Given the description of an element on the screen output the (x, y) to click on. 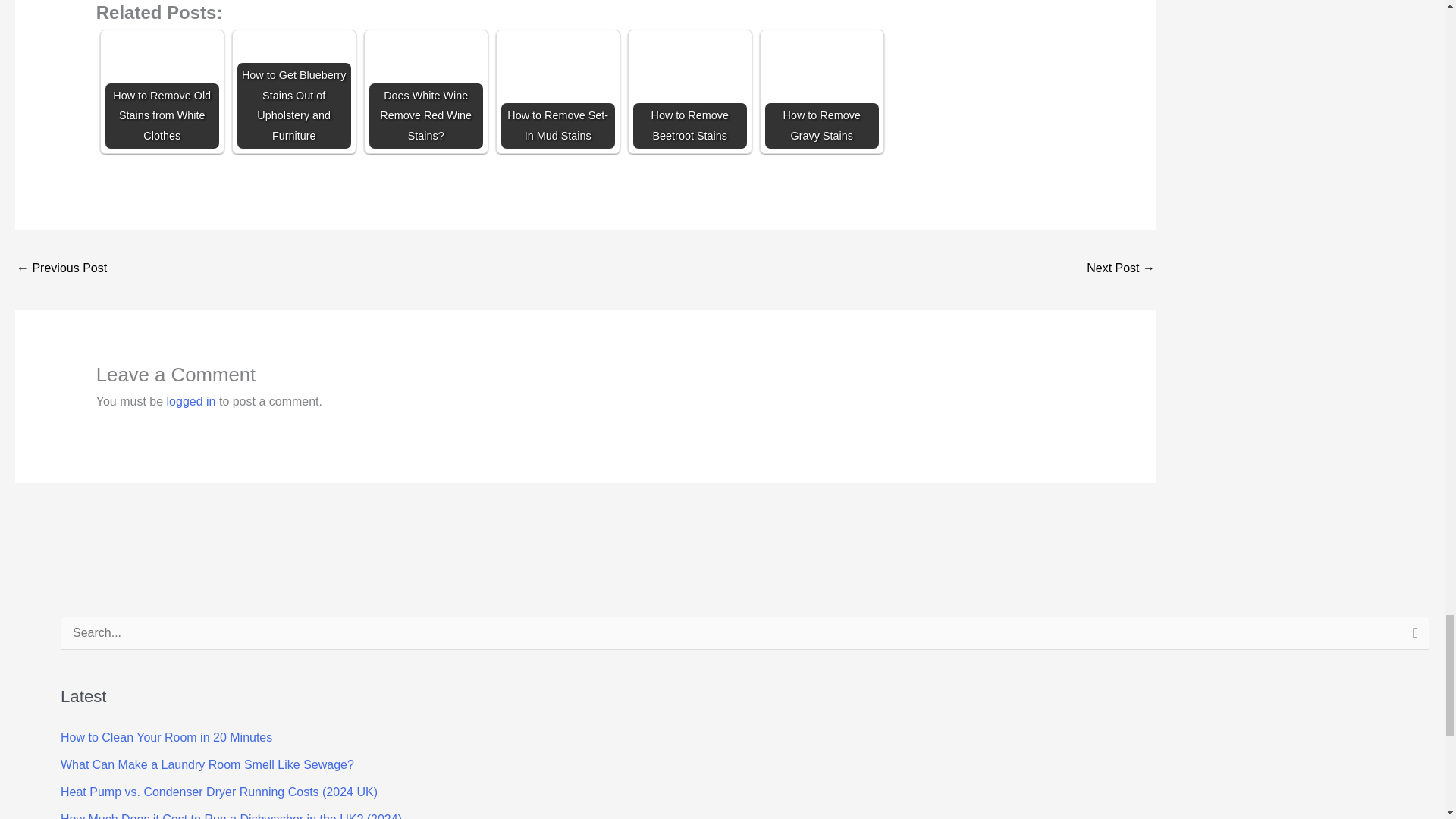
How to Remove Beetroot Stains (689, 91)
How to Use Essential Oils to Get Rid of Silverfish (61, 269)
Does White Wine Remove Red Wine Stains? (426, 91)
How to Wash a Teddy Bear Without Ruining It (1120, 269)
How to Get Blueberry Stains Out of Upholstery and Furniture (293, 91)
How to Remove Old Stains from White Clothes (161, 91)
How to Remove Gravy Stains (822, 91)
How to Remove Set-In Mud Stains (557, 91)
How to Clean Your Room in 20 Minutes (166, 737)
logged in (191, 400)
